Given the description of an element on the screen output the (x, y) to click on. 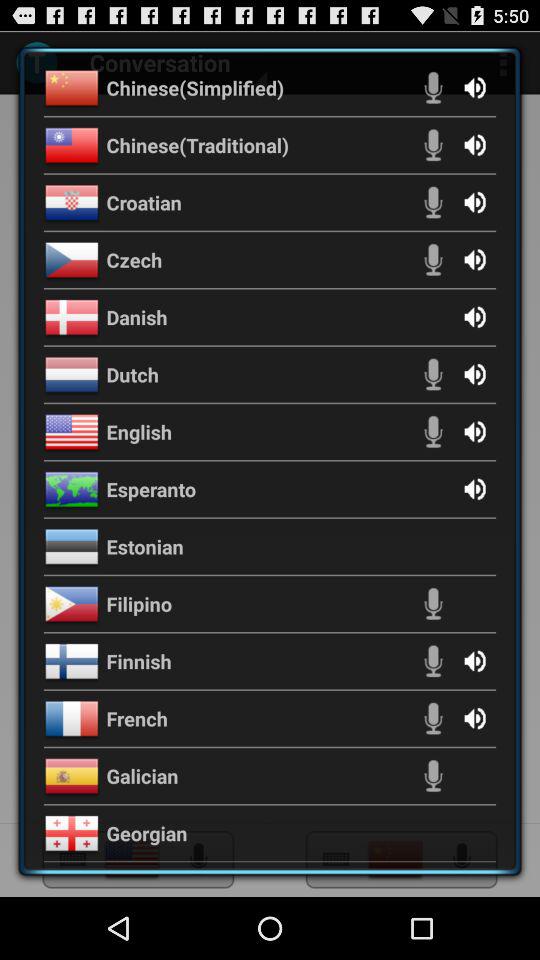
swipe to english icon (139, 431)
